Given the description of an element on the screen output the (x, y) to click on. 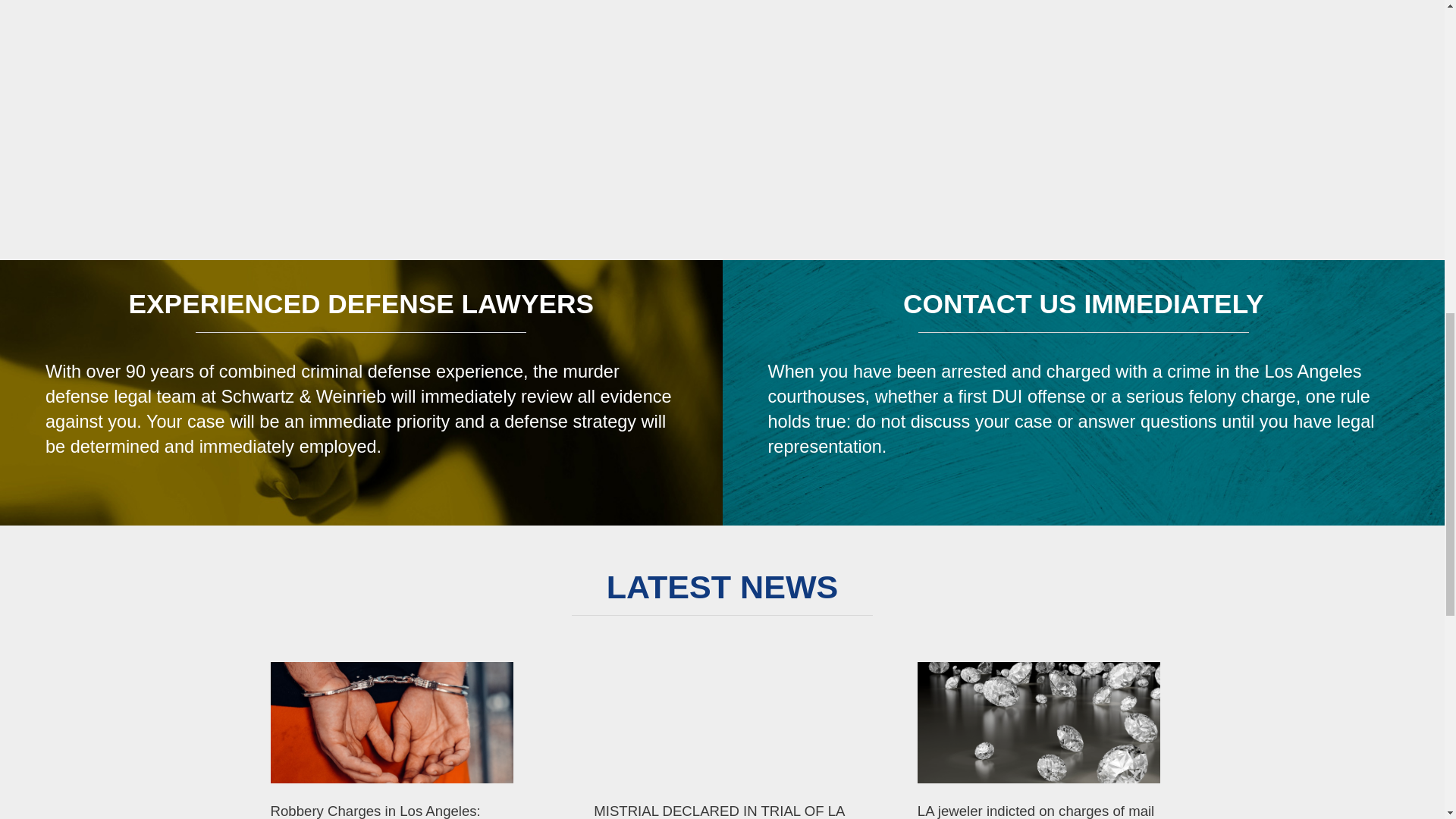
LA jeweler indicted on charges of mail fraud (1038, 721)
LA jeweler indicted on charges of mail fraud (1045, 810)
